Given the description of an element on the screen output the (x, y) to click on. 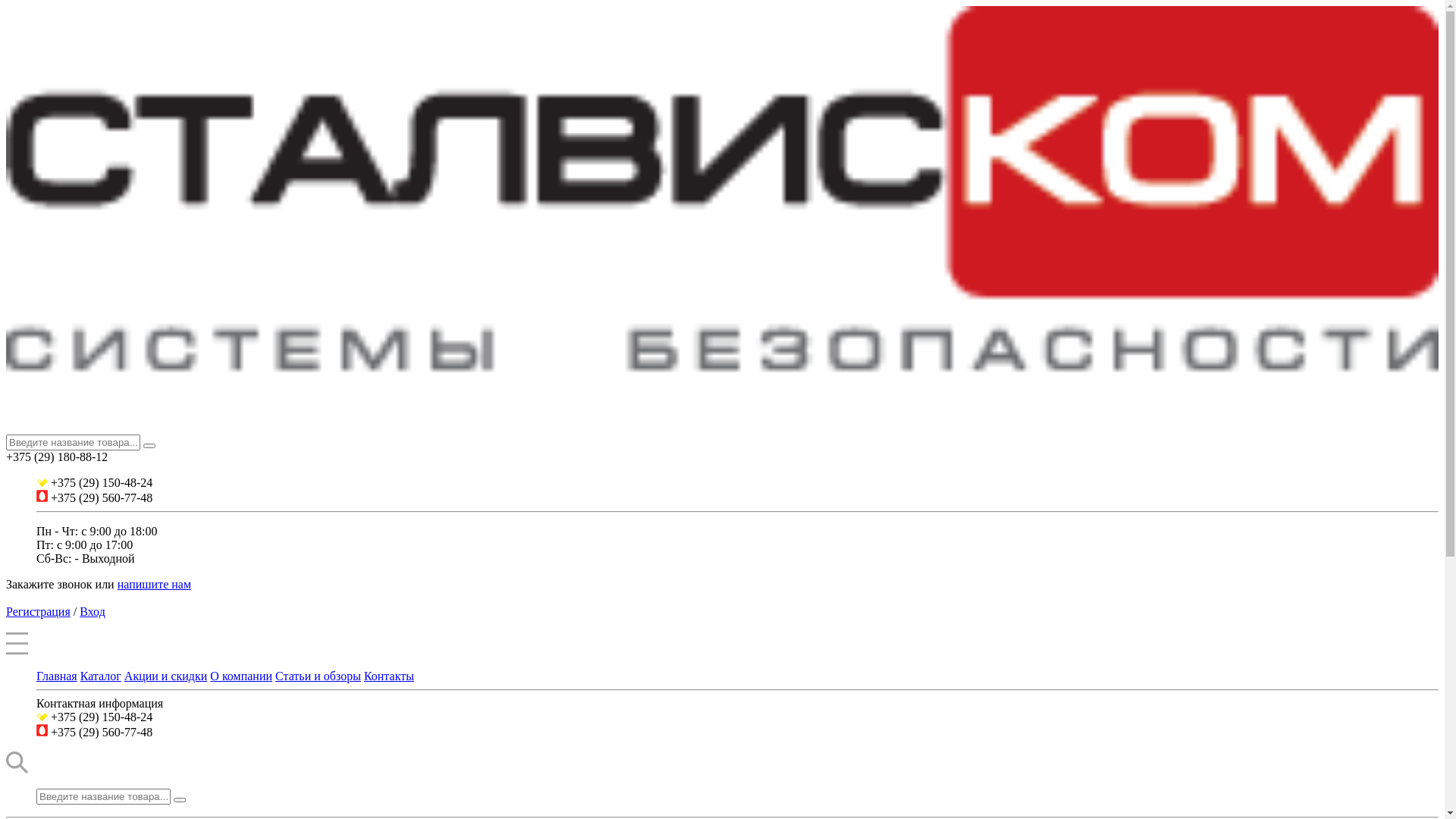
velcom Element type: hover (41, 482)
velcom Element type: hover (41, 716)
